Given the description of an element on the screen output the (x, y) to click on. 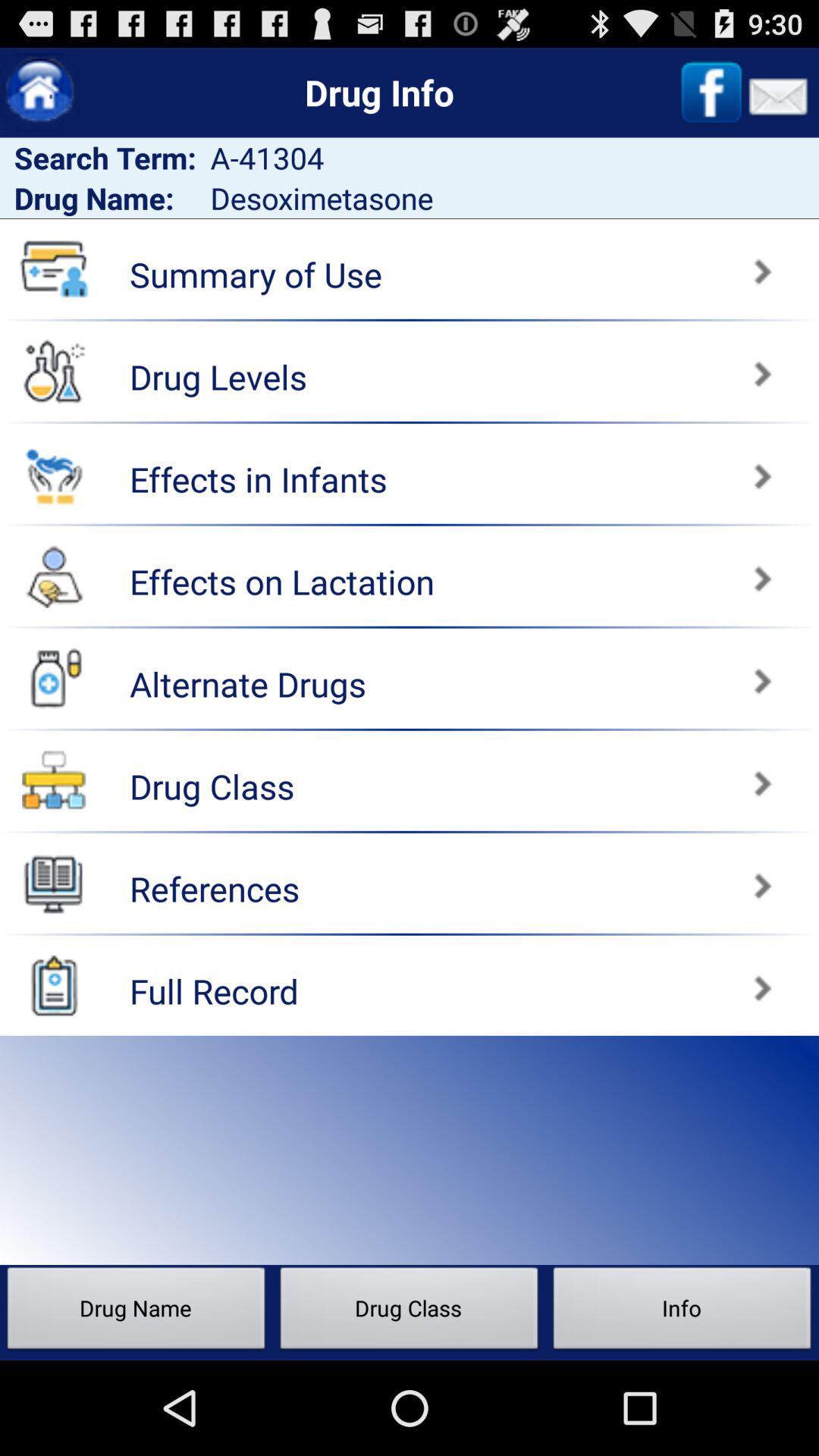
menu (53, 883)
